Given the description of an element on the screen output the (x, y) to click on. 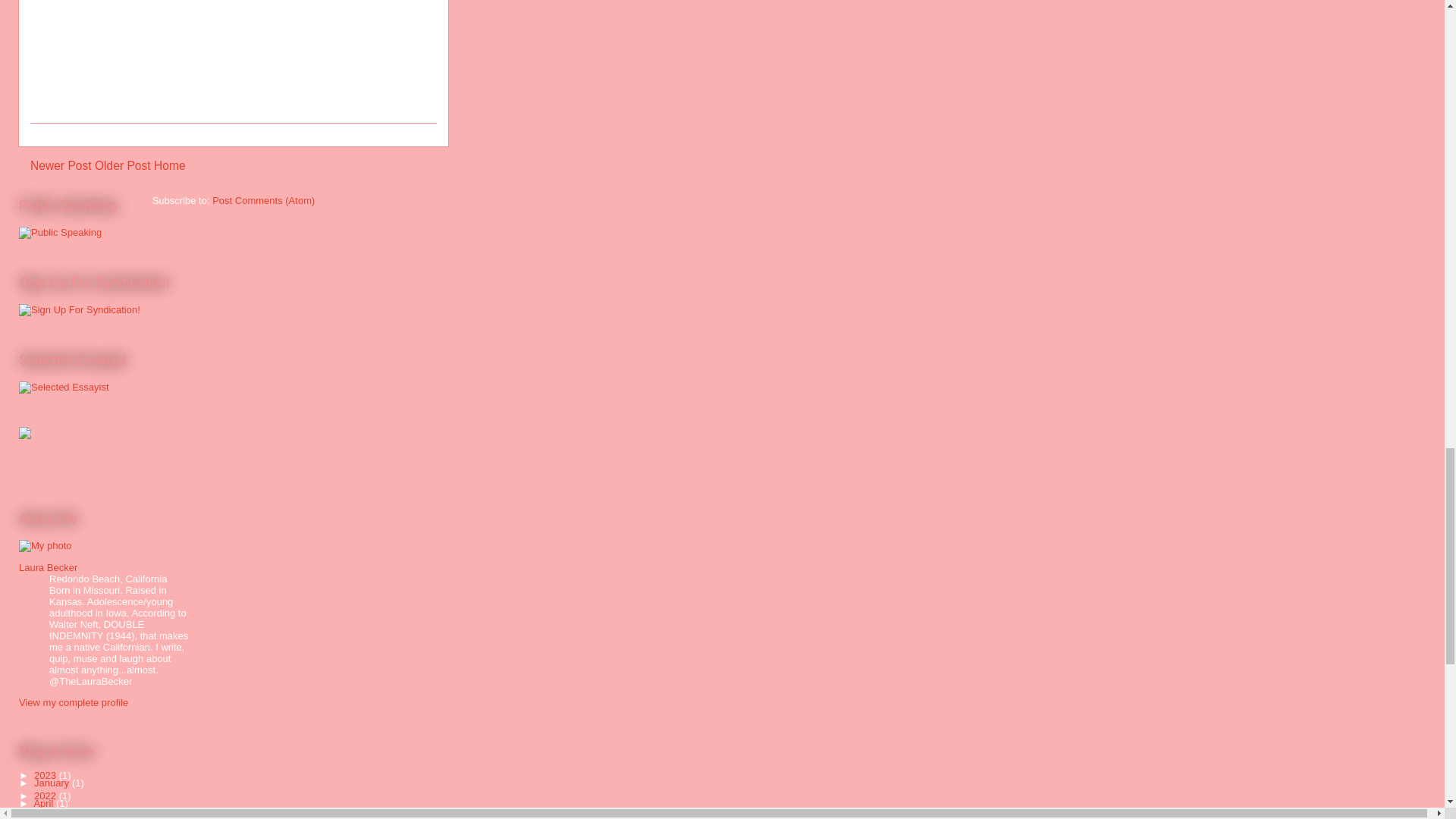
Older Post (122, 164)
Older Post (122, 164)
Newer Post (60, 164)
View my complete profile (73, 702)
Home (170, 164)
April (44, 803)
2022 (46, 795)
Laura Becker (47, 567)
Newer Post (60, 164)
January (52, 782)
2021 (46, 814)
2023 (46, 775)
